Given the description of an element on the screen output the (x, y) to click on. 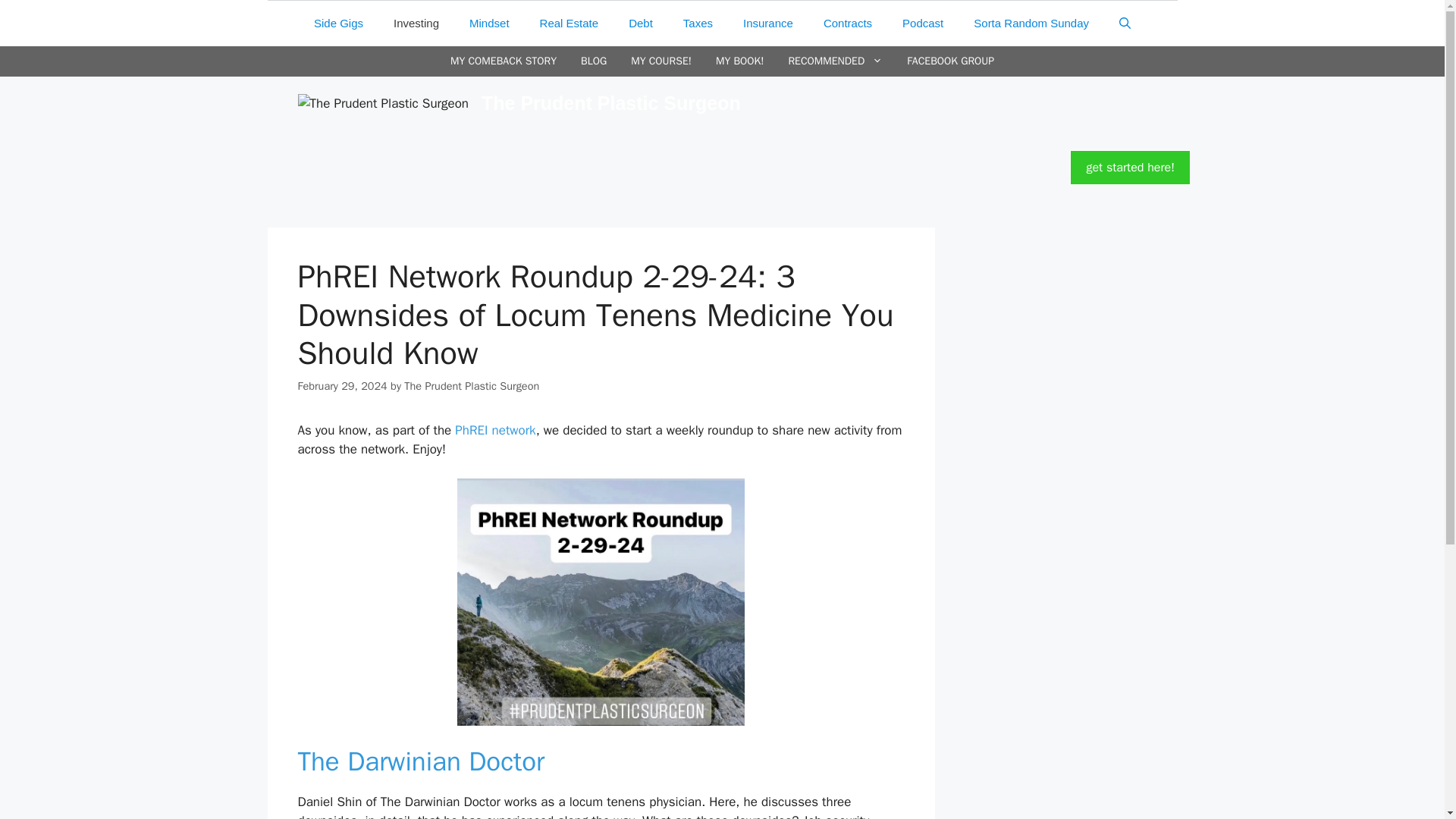
Real Estate (569, 22)
Mindset (489, 22)
MY COURSE! (660, 60)
Podcast (922, 22)
The Prudent Plastic Surgeon (382, 103)
Insurance (768, 22)
Contracts (847, 22)
Sorta Random Sunday (1030, 22)
MY BOOK! (739, 60)
BLOG (593, 60)
The Prudent Plastic Surgeon (382, 102)
MY COMEBACK STORY (503, 60)
Taxes (698, 22)
Debt (640, 22)
Side Gigs (338, 22)
